Given the description of an element on the screen output the (x, y) to click on. 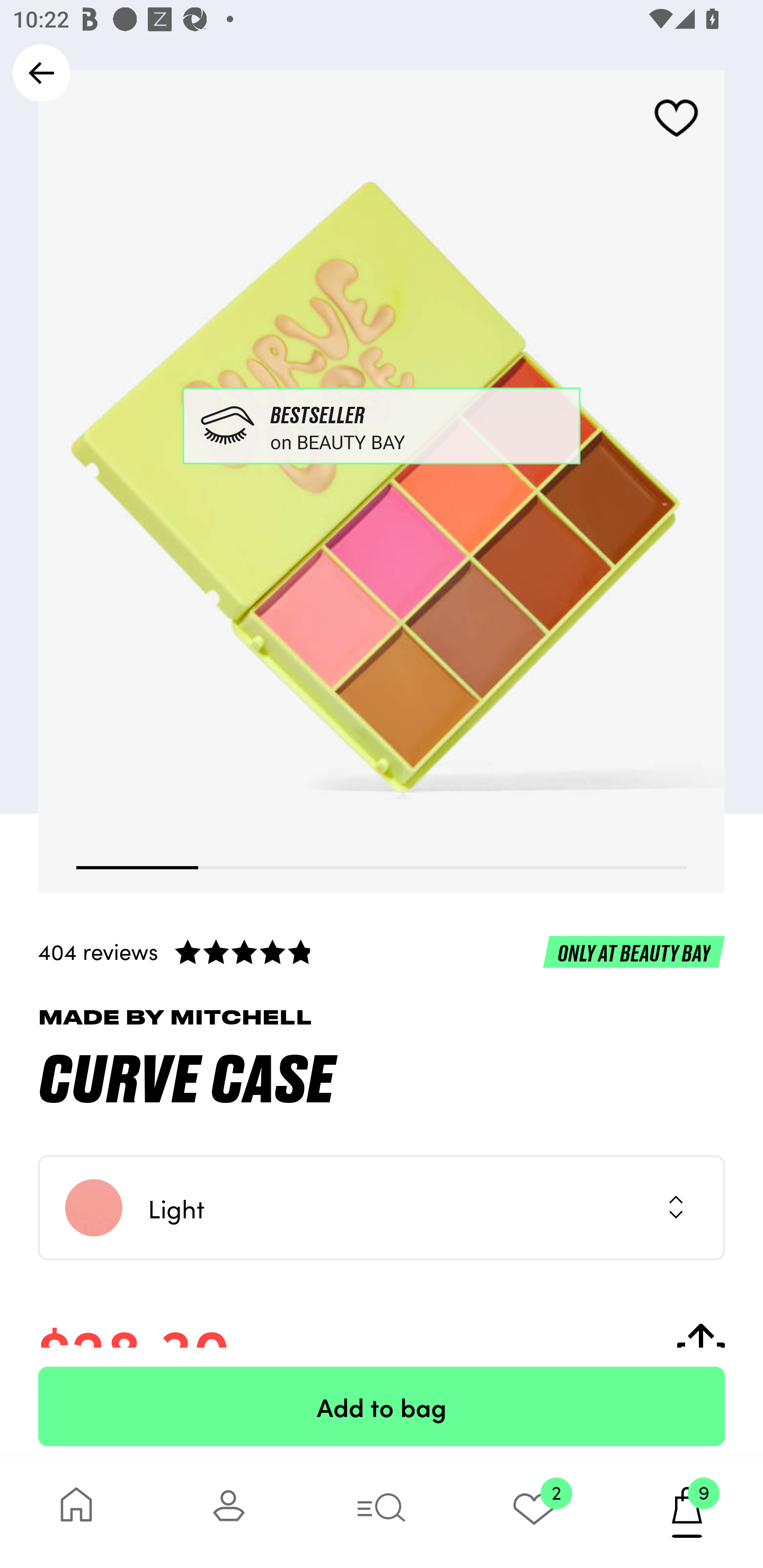
404 reviews (381, 950)
Light  (381, 1207)
Add to bag (381, 1406)
2 (533, 1512)
9 (686, 1512)
